Given the description of an element on the screen output the (x, y) to click on. 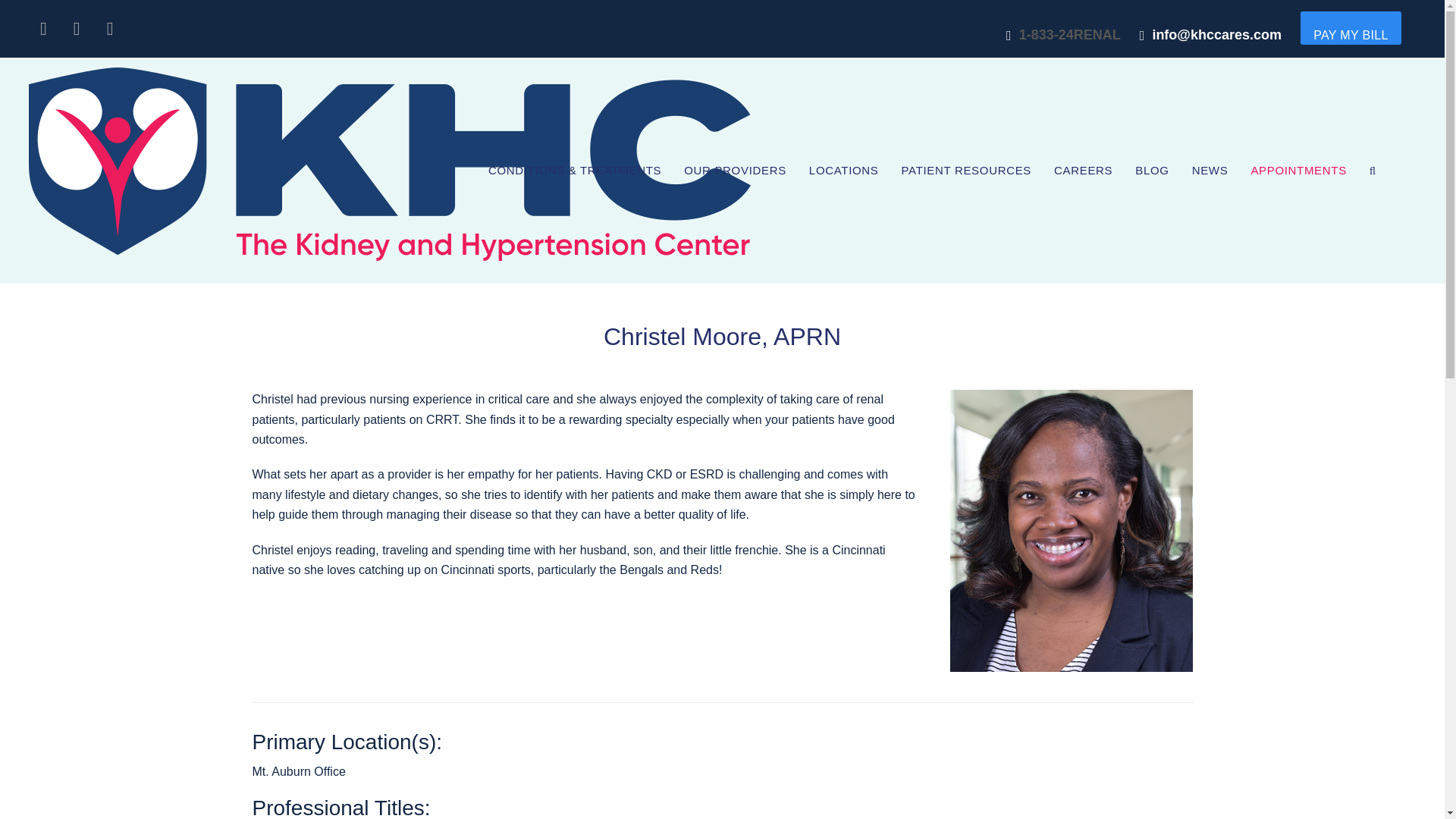
OUR PROVIDERS (734, 171)
CAREERS (1083, 171)
NEWS (1210, 171)
APPOINTMENTS (1297, 171)
PATIENT RESOURCES (966, 171)
BLOG (1151, 171)
LOCATIONS (843, 171)
PAY MY BILL (1350, 28)
PAY MY BILL (1350, 34)
1-833-24RENAL (1070, 34)
